Given the description of an element on the screen output the (x, y) to click on. 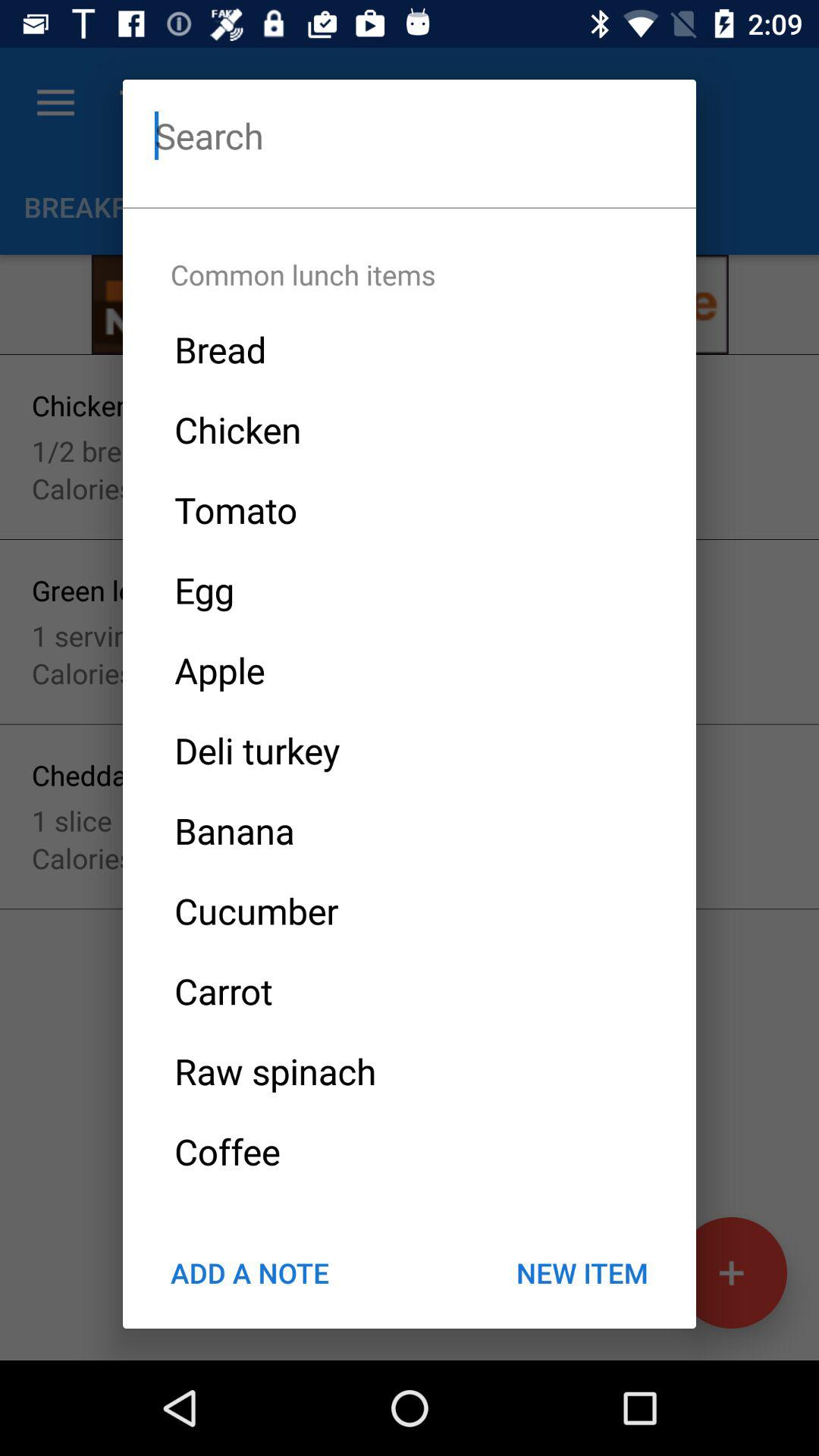
search option (409, 135)
